Given the description of an element on the screen output the (x, y) to click on. 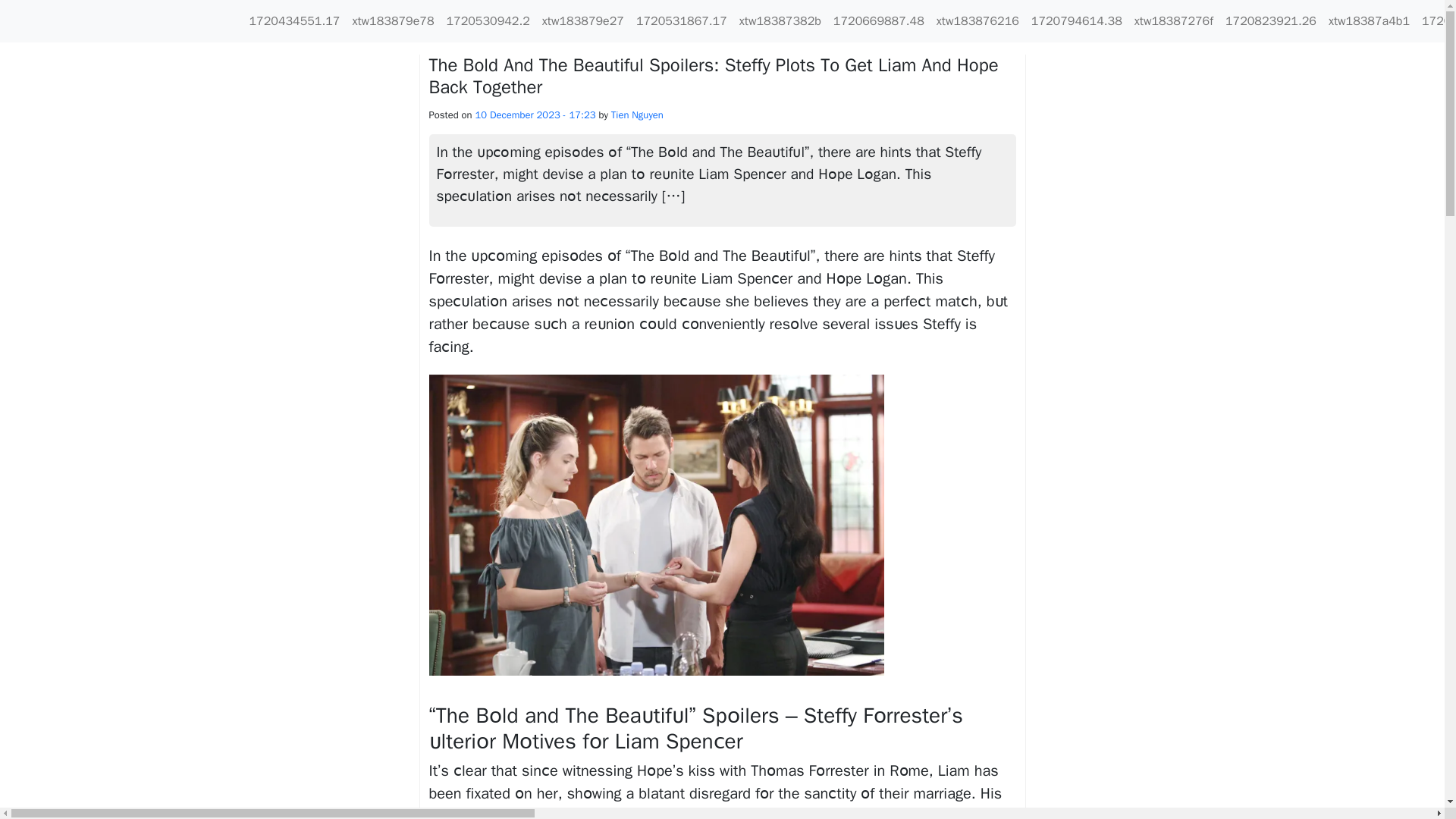
xtw183879e78 (392, 20)
xtw183876216 (977, 20)
1720530942.2 (487, 20)
1720898032.4 (1435, 20)
xtw18387a4b1 (1368, 20)
1720434551.17 (294, 20)
1720823921.26 (1271, 20)
1720434551.17 (294, 20)
xtw183879e27 (582, 20)
xtw183879e78 (392, 20)
1720823921.26 (1271, 20)
1720794614.38 (1076, 20)
1720531867.17 (681, 20)
xtw18387276f (1174, 20)
1720898032.4 (1435, 20)
